Given the description of an element on the screen output the (x, y) to click on. 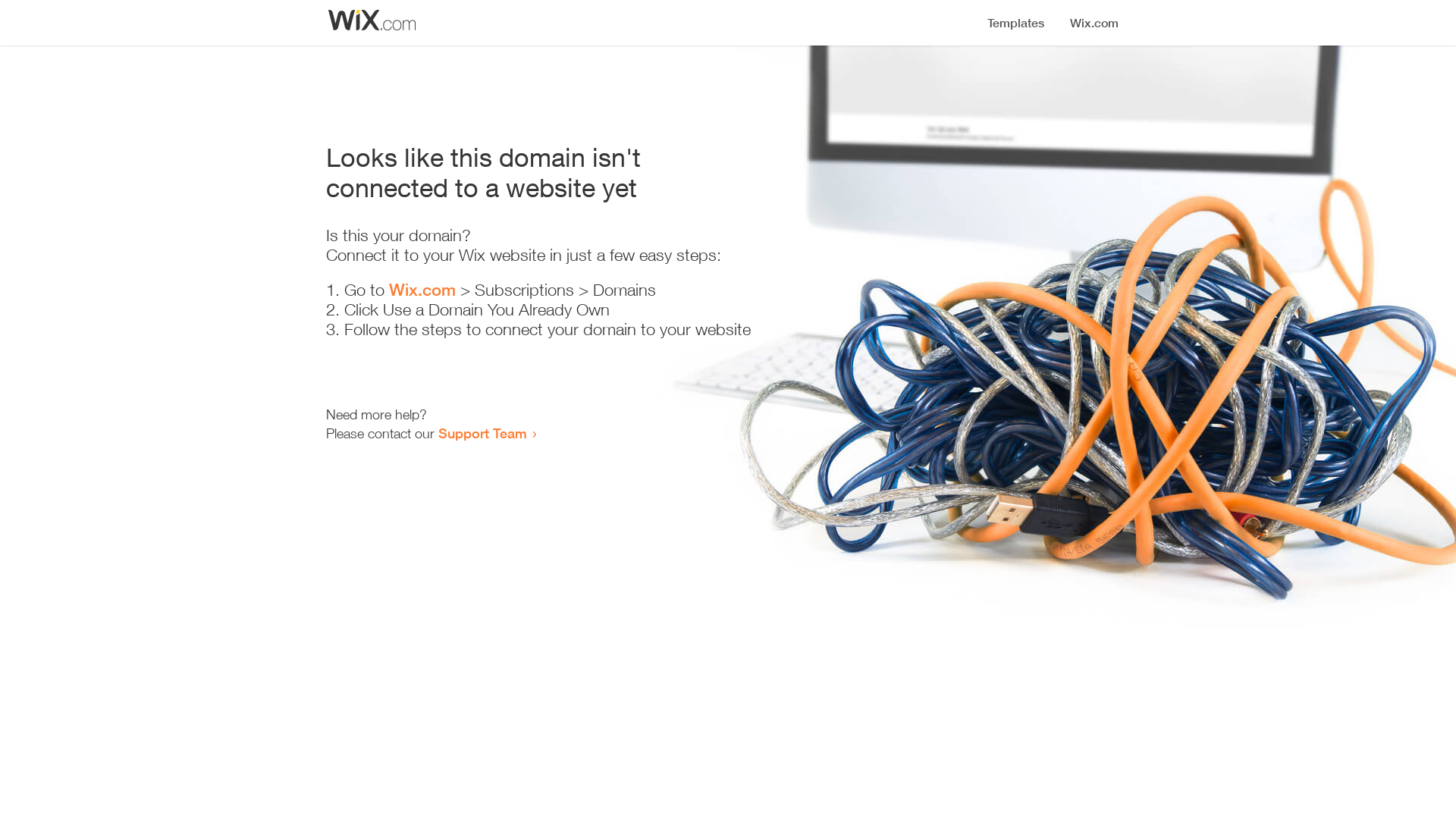
Wix.com Element type: text (422, 289)
Support Team Element type: text (482, 432)
